Given the description of an element on the screen output the (x, y) to click on. 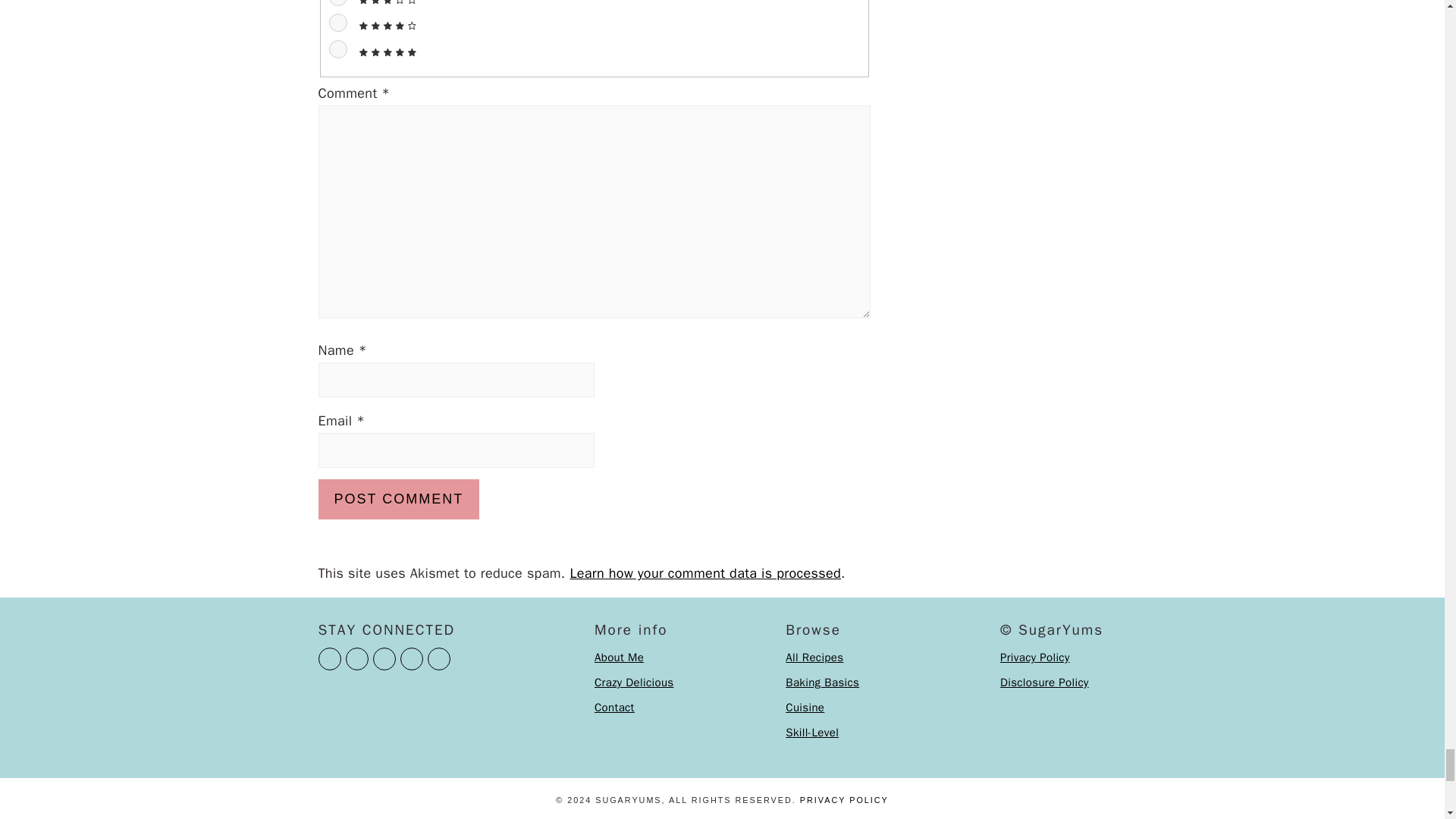
4 (338, 22)
Post Comment (399, 499)
5 (338, 49)
3 (338, 2)
